Given the description of an element on the screen output the (x, y) to click on. 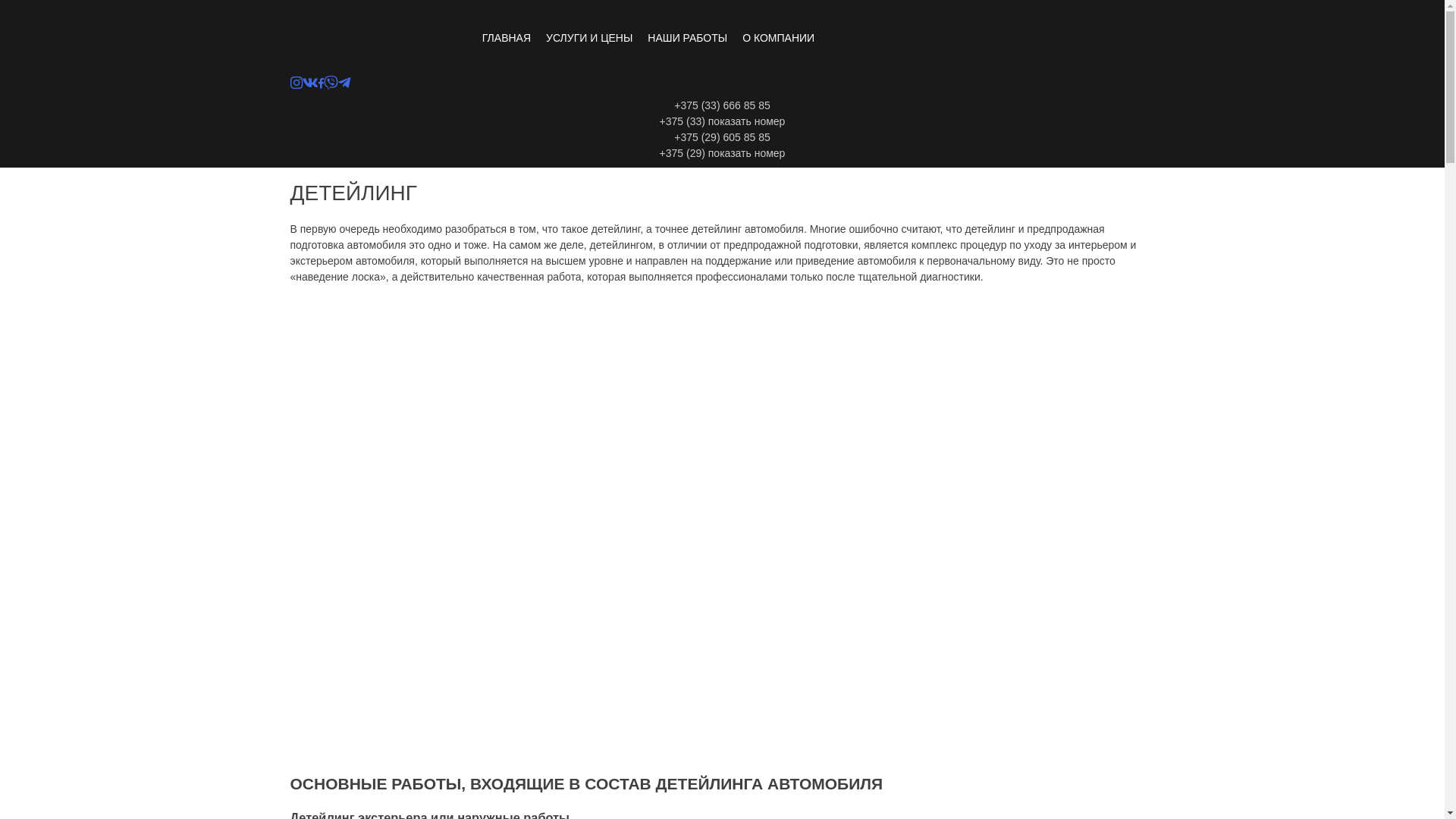
+375 (33) 666 85 85 Element type: text (722, 105)
+375 (29) 605 85 85 Element type: text (722, 137)
